Given the description of an element on the screen output the (x, y) to click on. 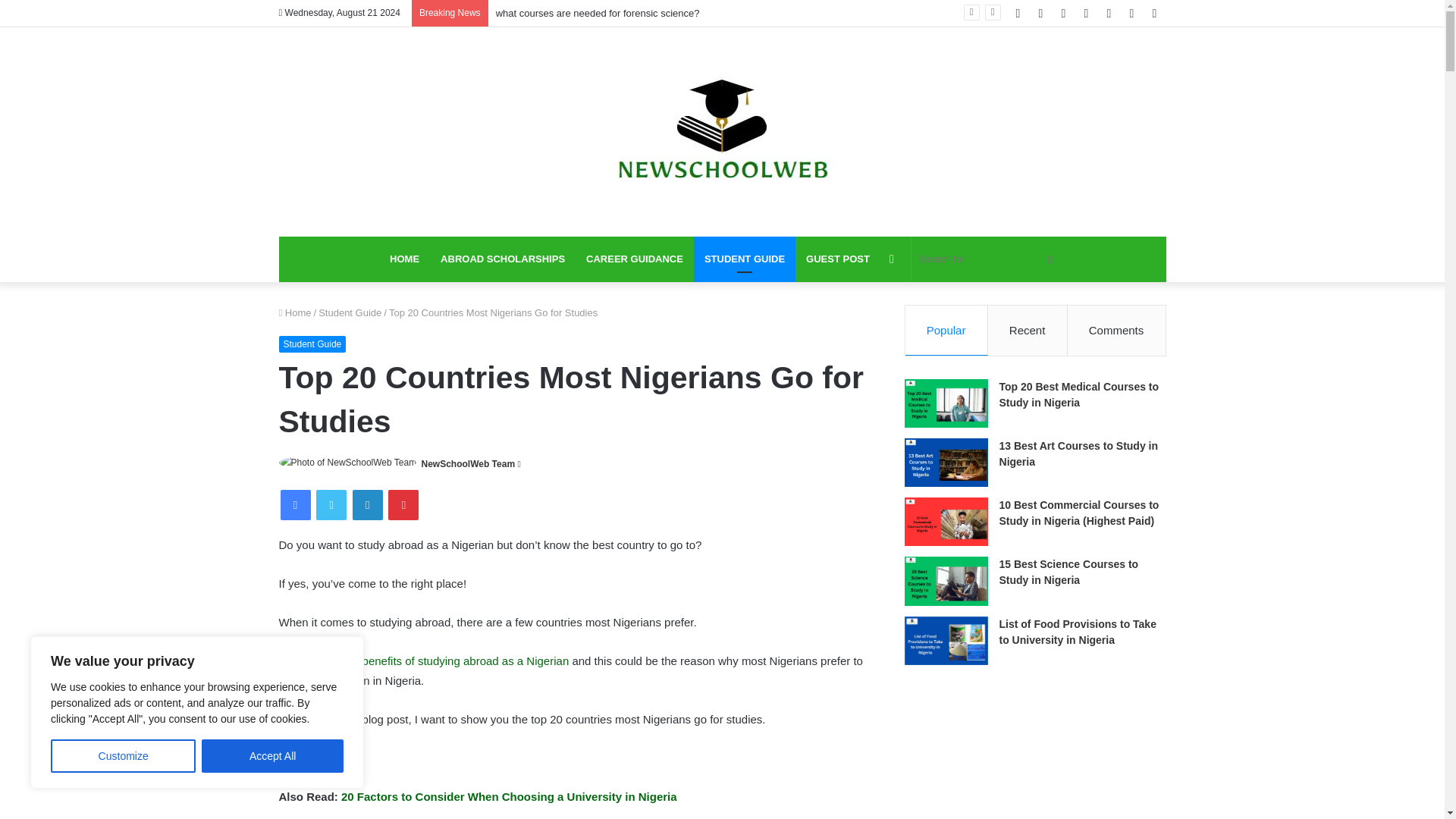
Student Guide (349, 312)
NewSchoolWeb Team (468, 463)
Twitter (330, 504)
Home (295, 312)
ABROAD SCHOLARSHIPS (502, 258)
GUEST POST (837, 258)
Customize (122, 756)
Facebook (296, 504)
LinkedIn (367, 504)
LinkedIn (367, 504)
